Given the description of an element on the screen output the (x, y) to click on. 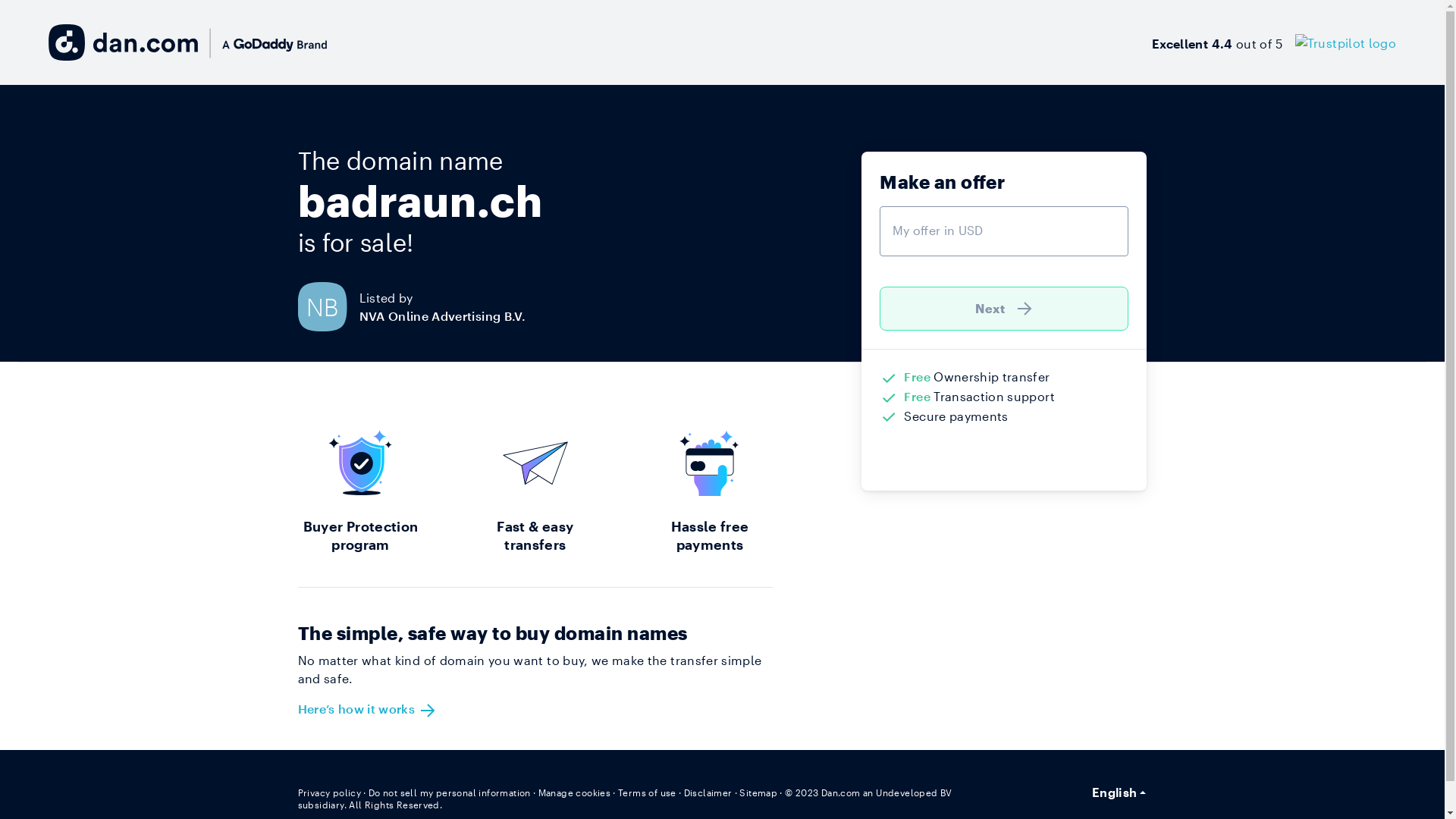
Disclaimer Element type: text (708, 792)
Sitemap Element type: text (758, 792)
Do not sell my personal information Element type: text (449, 792)
Terms of use Element type: text (647, 792)
Privacy policy Element type: text (328, 792)
Next
) Element type: text (1003, 308)
English Element type: text (1119, 792)
Manage cookies Element type: text (574, 792)
Excellent 4.4 out of 5 Element type: text (1273, 42)
